Given the description of an element on the screen output the (x, y) to click on. 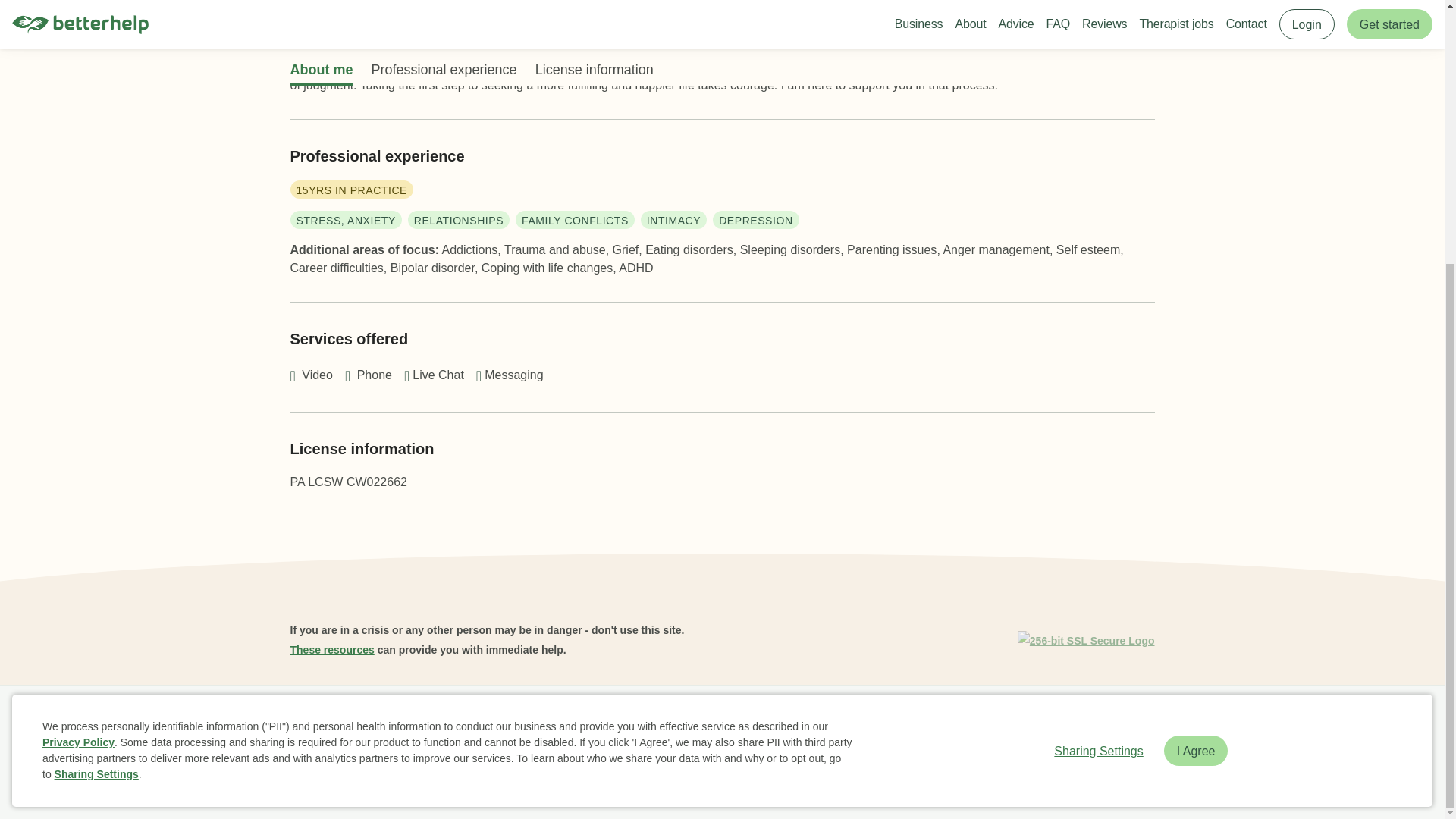
FAQ (462, 721)
These resources (331, 649)
Privacy Policy (78, 362)
Business (365, 721)
Contact (857, 721)
For Therapists (928, 721)
About (419, 721)
Sharing Settings (96, 394)
Sharing Settings (1098, 370)
Online Therapy (784, 721)
